Given the description of an element on the screen output the (x, y) to click on. 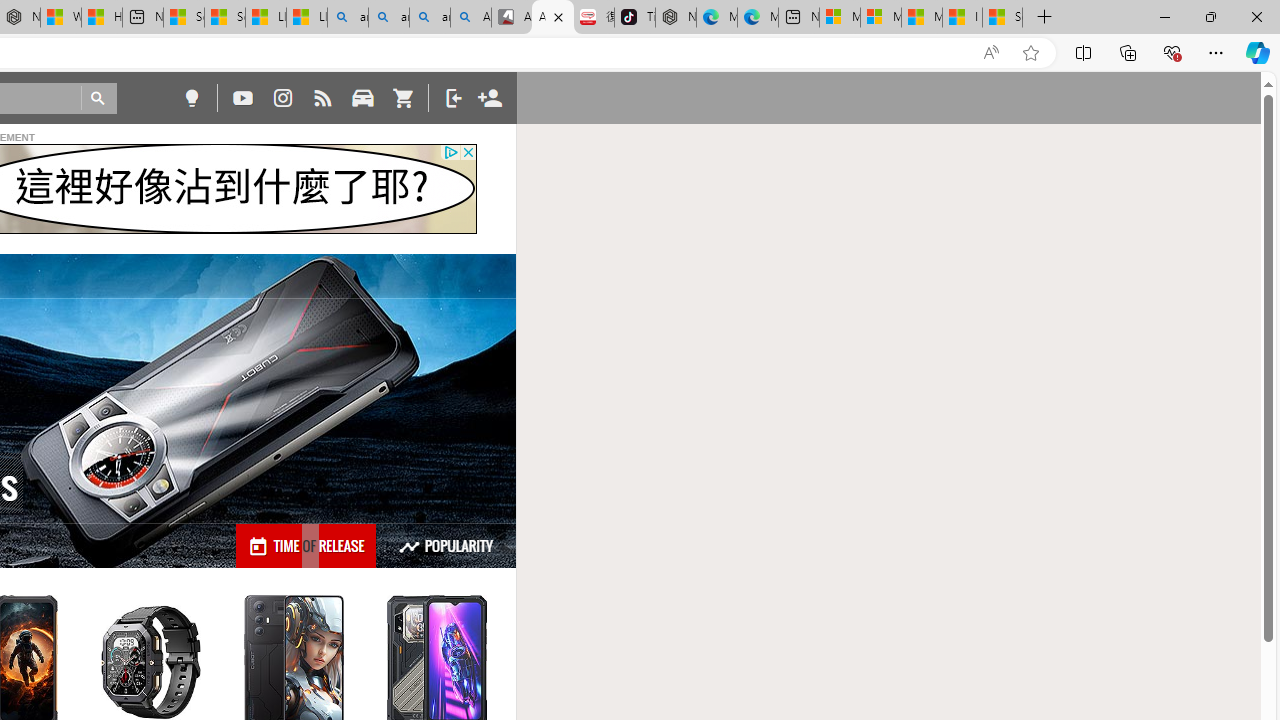
Class: privacy_out (450, 151)
